Given the description of an element on the screen output the (x, y) to click on. 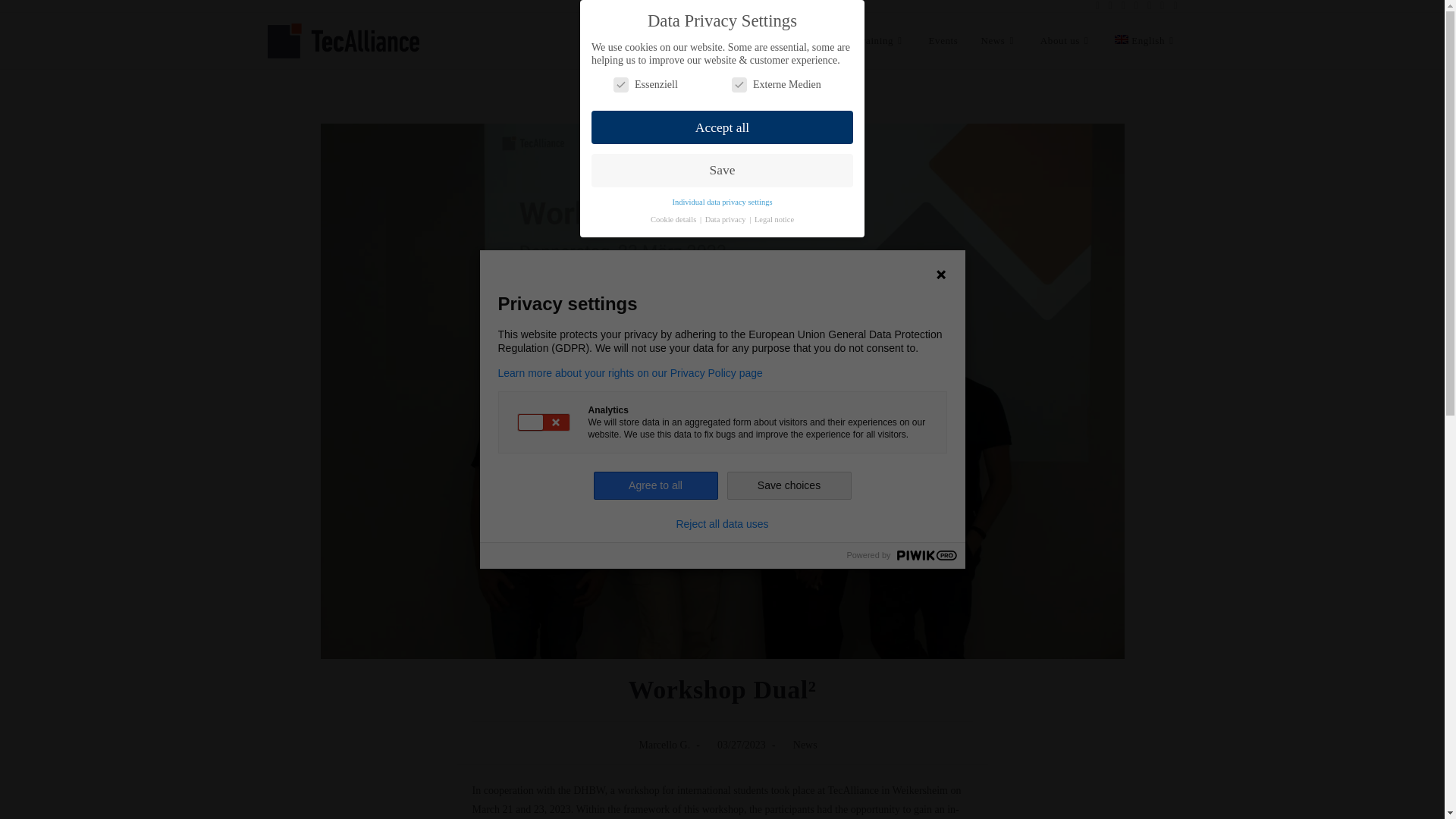
Events (943, 40)
Posts by Marcello G. (664, 745)
English (1145, 40)
News (998, 40)
About us (1066, 40)
Our training (872, 40)
